Given the description of an element on the screen output the (x, y) to click on. 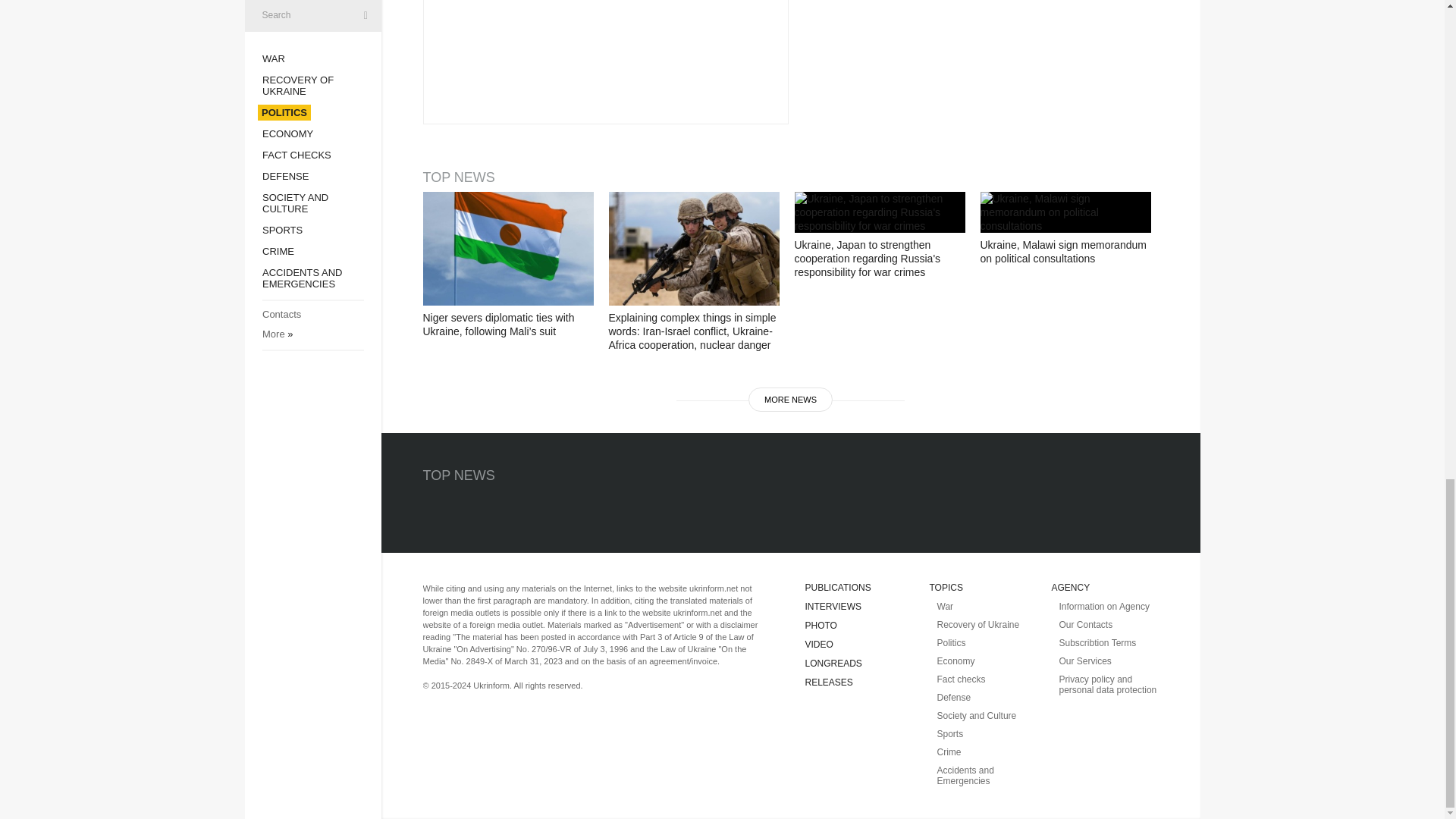
Ukraine, Malawi sign memorandum on political consultations (1064, 211)
